Given the description of an element on the screen output the (x, y) to click on. 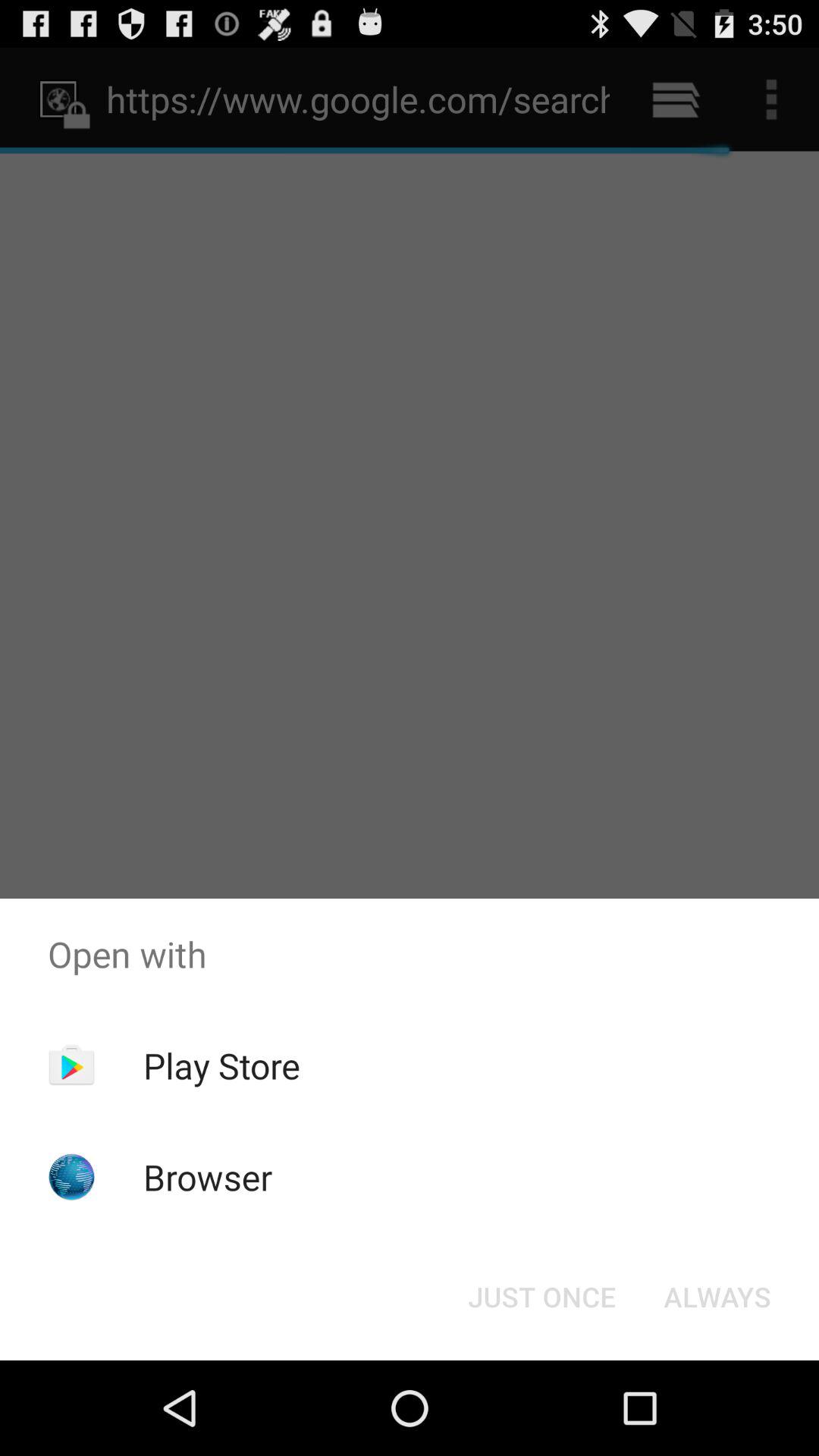
turn on the just once icon (541, 1296)
